Given the description of an element on the screen output the (x, y) to click on. 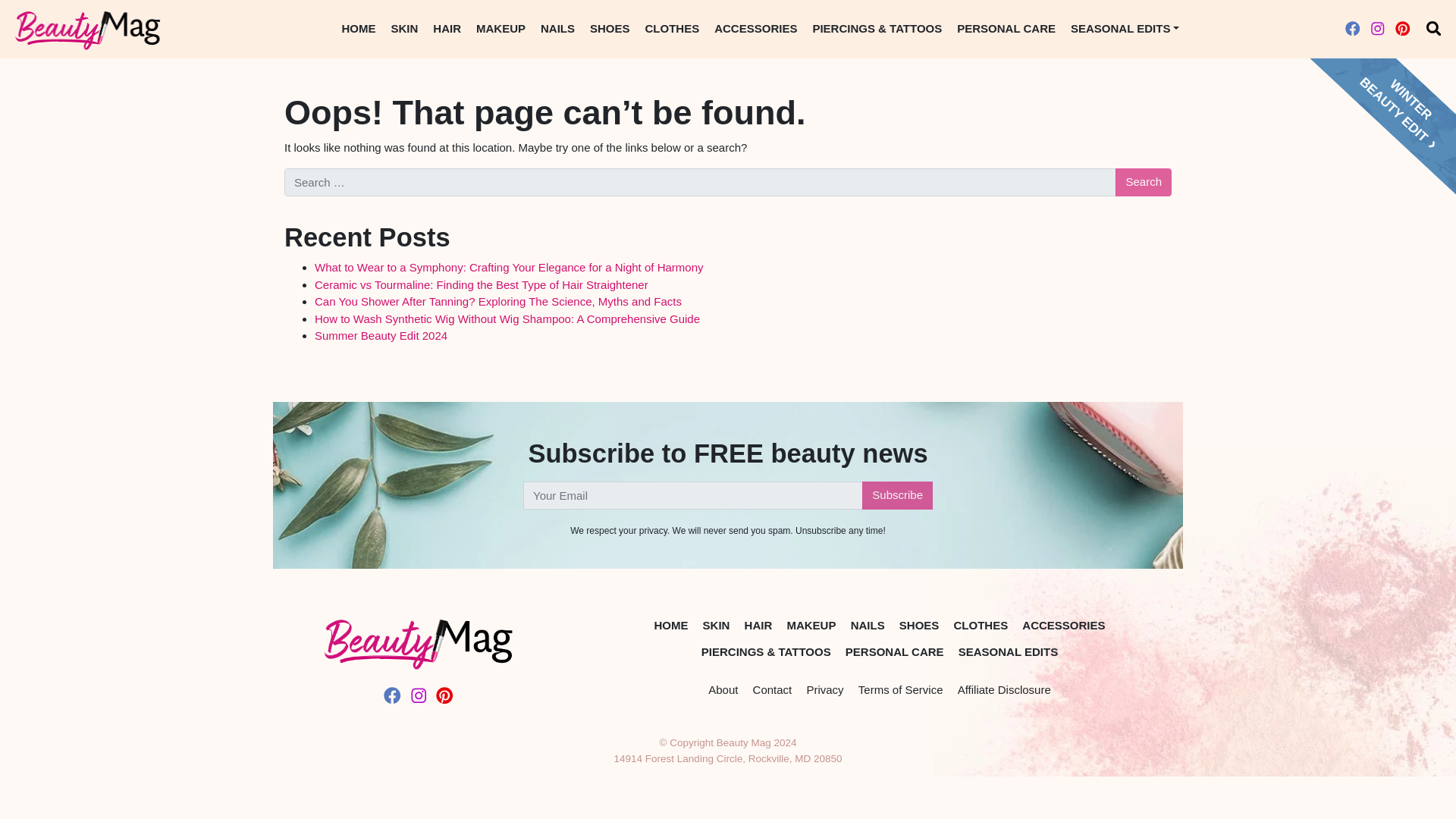
SHOES (609, 29)
Follow Us on Facebook (1352, 28)
Search (1143, 182)
HAIR (758, 625)
CLOTHES (672, 29)
Subscribe (897, 495)
Nails (557, 29)
Subscribe (897, 495)
Clothes (672, 29)
